Given the description of an element on the screen output the (x, y) to click on. 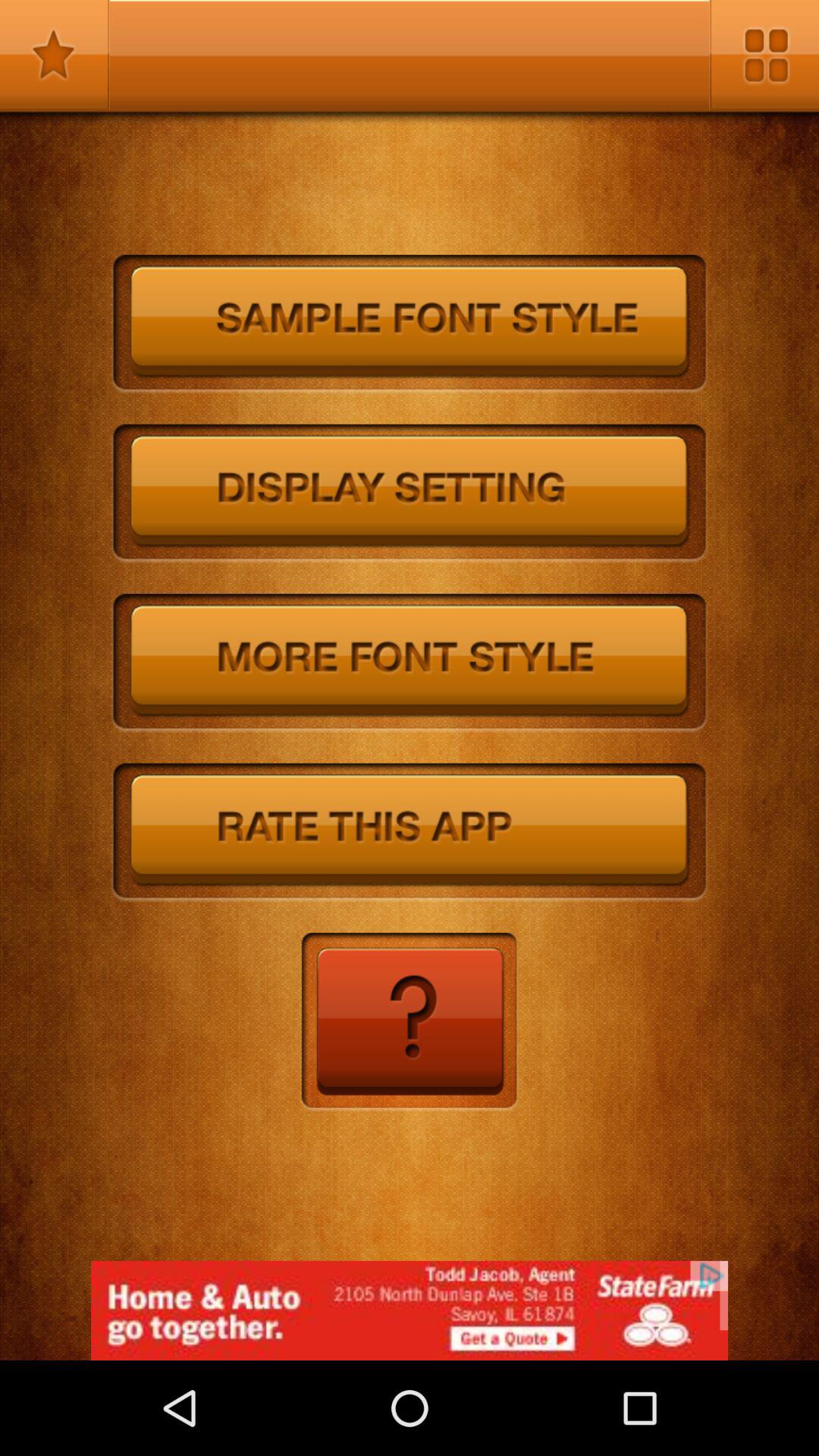
choose a different font (409, 663)
